Given the description of an element on the screen output the (x, y) to click on. 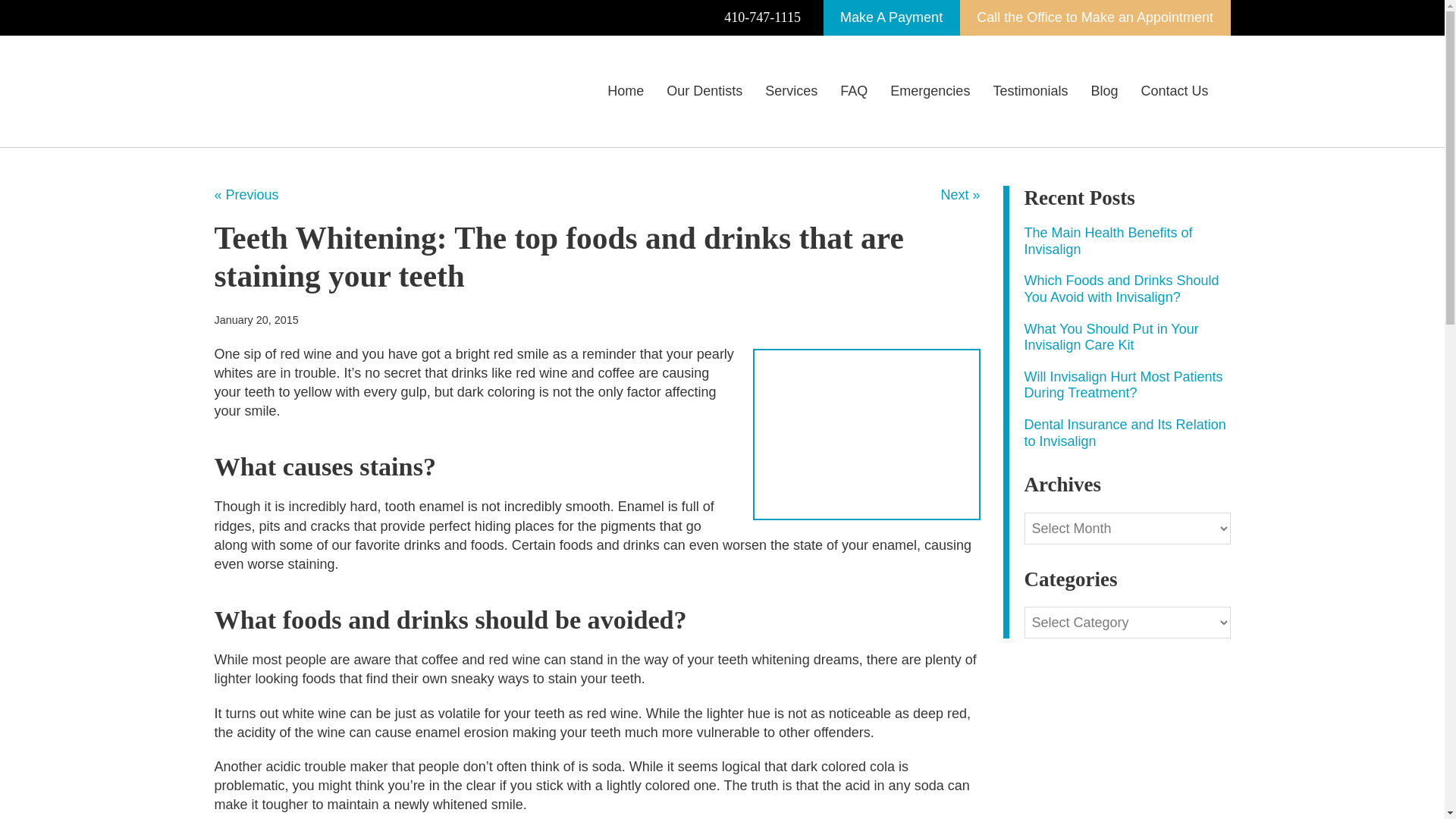
FAQ (853, 90)
410-747-1115 (762, 18)
Contact Us (1174, 90)
Emergencies (930, 90)
Call the Office to Make an Appointment (1094, 18)
Which Foods and Drinks Should You Avoid with Invisalign? (1120, 288)
Testimonials (1029, 90)
What You Should Put in Your Invisalign Care Kit (1110, 336)
The Main Health Benefits of Invisalign (1107, 241)
Will Invisalign Hurt Most Patients During Treatment? (1123, 385)
